Given the description of an element on the screen output the (x, y) to click on. 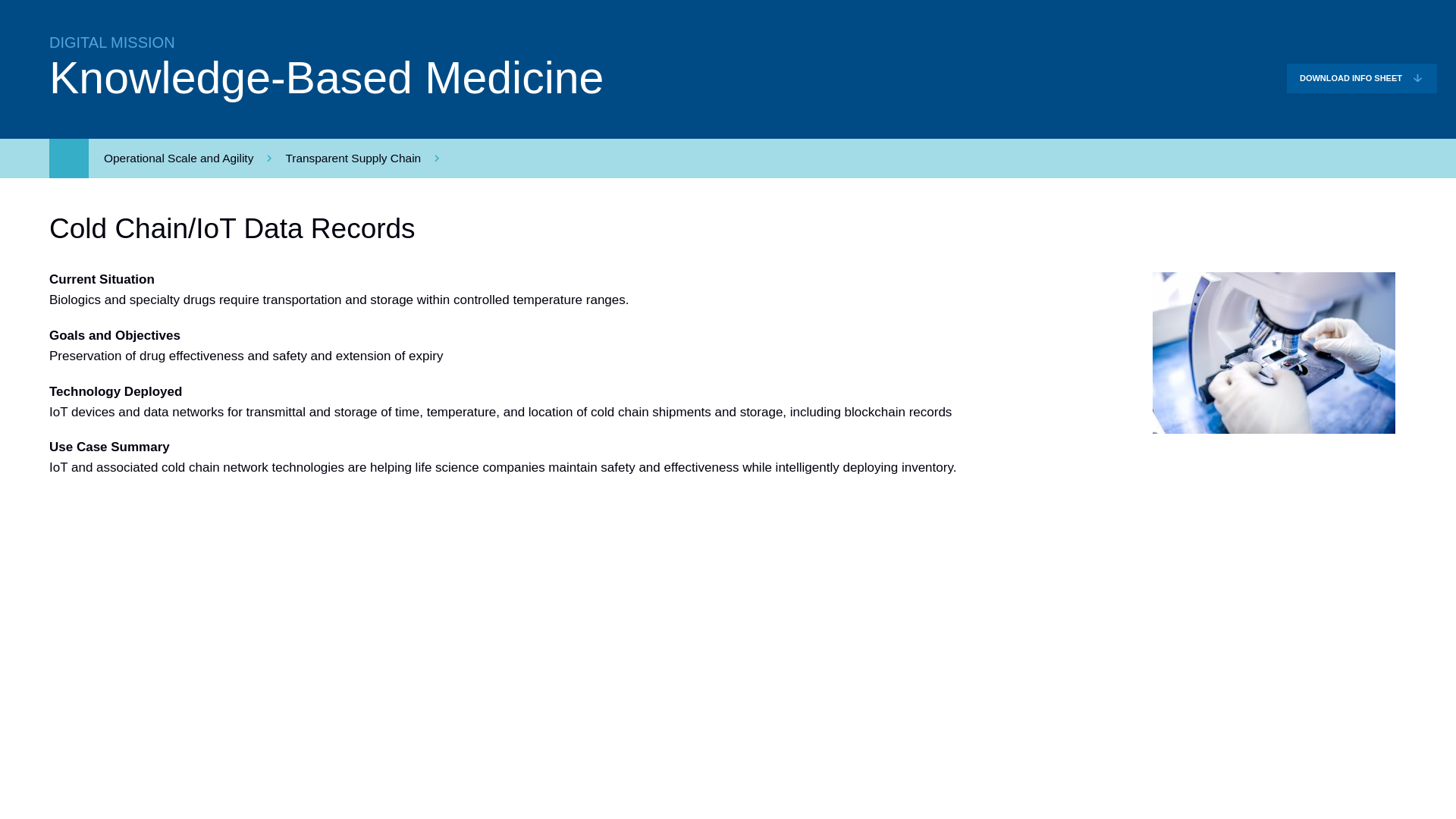
DOWNLOAD INFO SHEET (1362, 78)
